Given the description of an element on the screen output the (x, y) to click on. 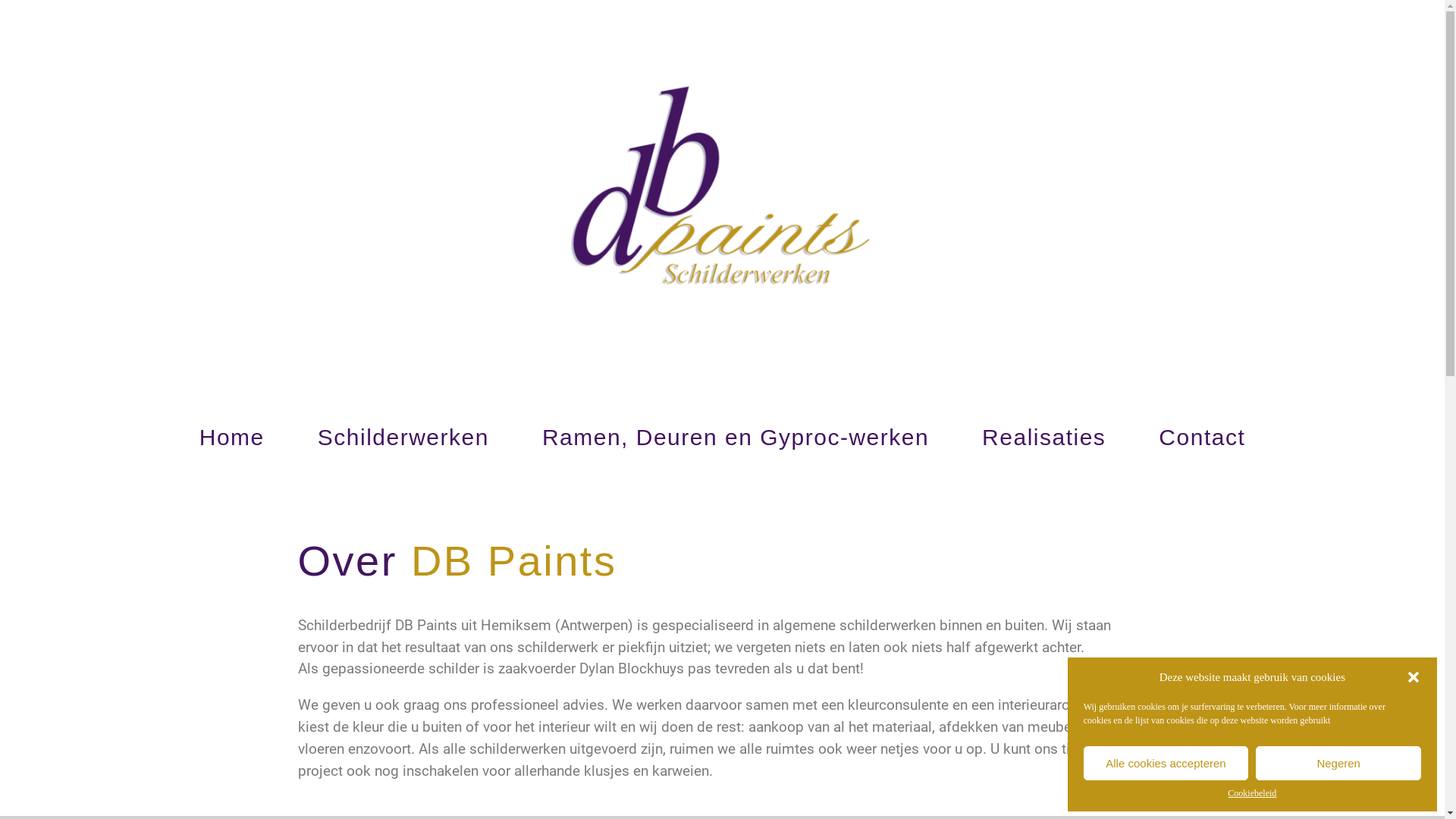
Realisaties Element type: text (1043, 437)
Contact Element type: text (1201, 437)
Alle cookies accepteren Element type: text (1165, 763)
DB Paints Element type: text (514, 560)
Home Element type: text (231, 437)
Ramen, Deuren en Gyproc-werken Element type: text (735, 437)
Cookiebeleid Element type: text (1251, 793)
Negeren Element type: text (1338, 763)
Schilderwerken Element type: text (403, 437)
